Given the description of an element on the screen output the (x, y) to click on. 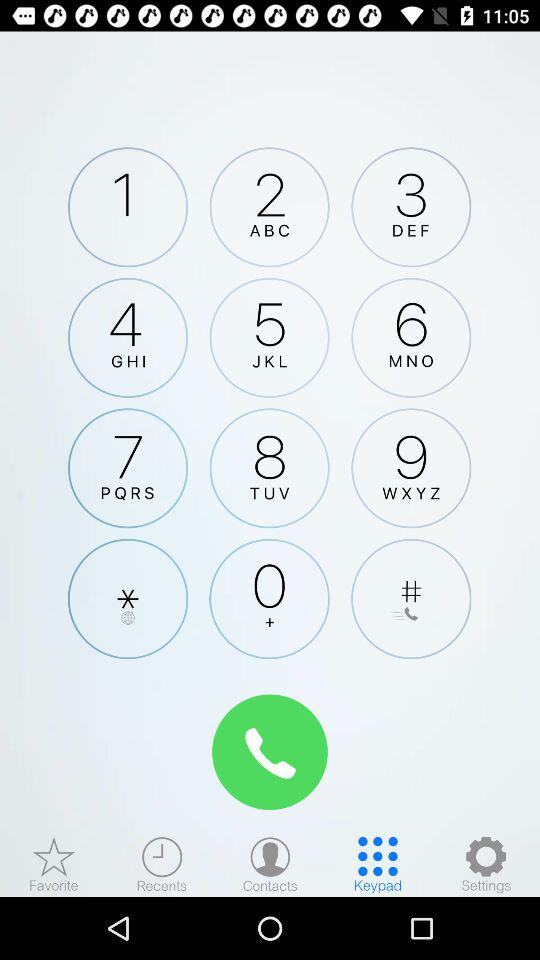
click 8 number (269, 468)
